Given the description of an element on the screen output the (x, y) to click on. 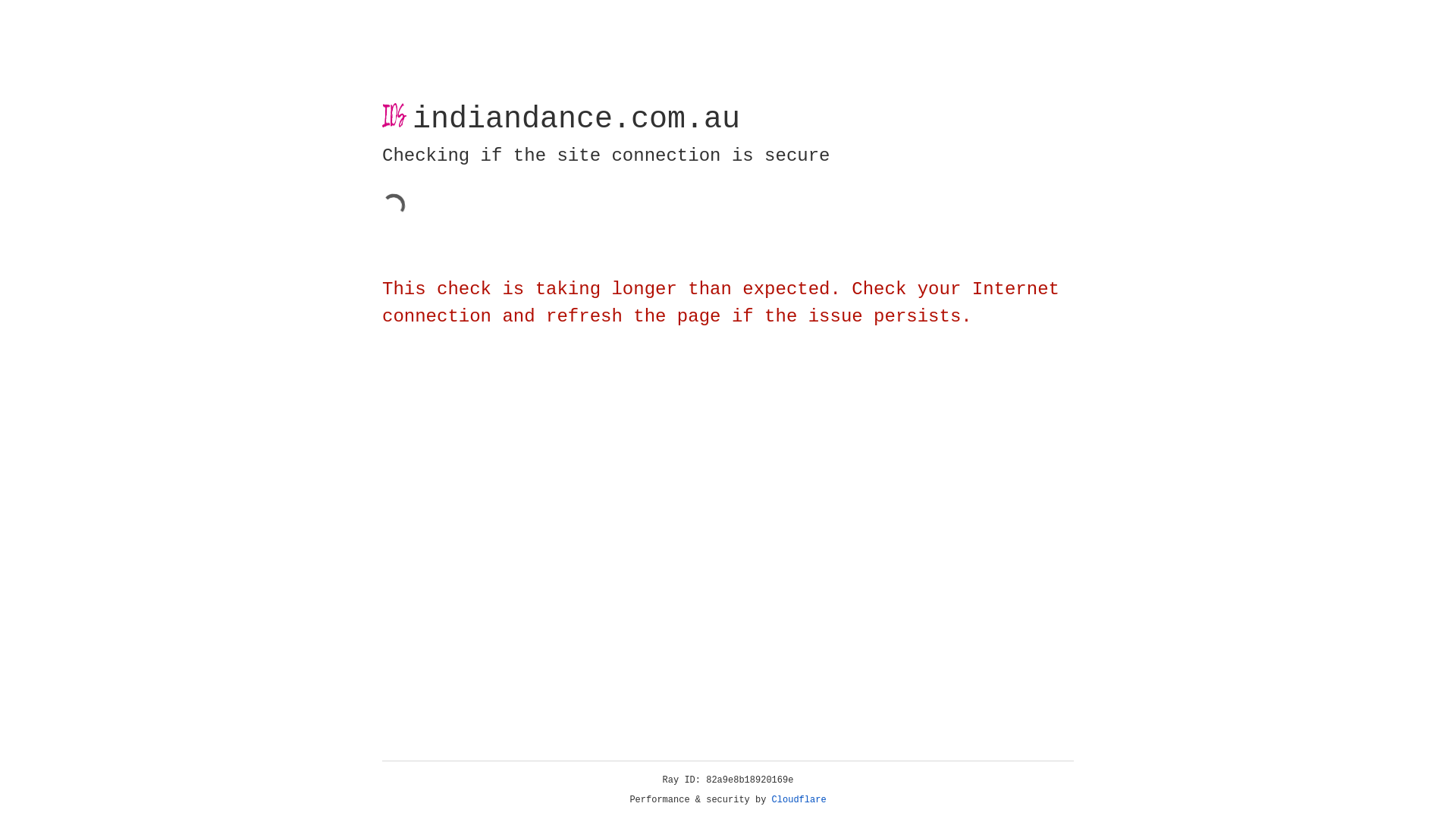
Cloudflare Element type: text (798, 799)
